Given the description of an element on the screen output the (x, y) to click on. 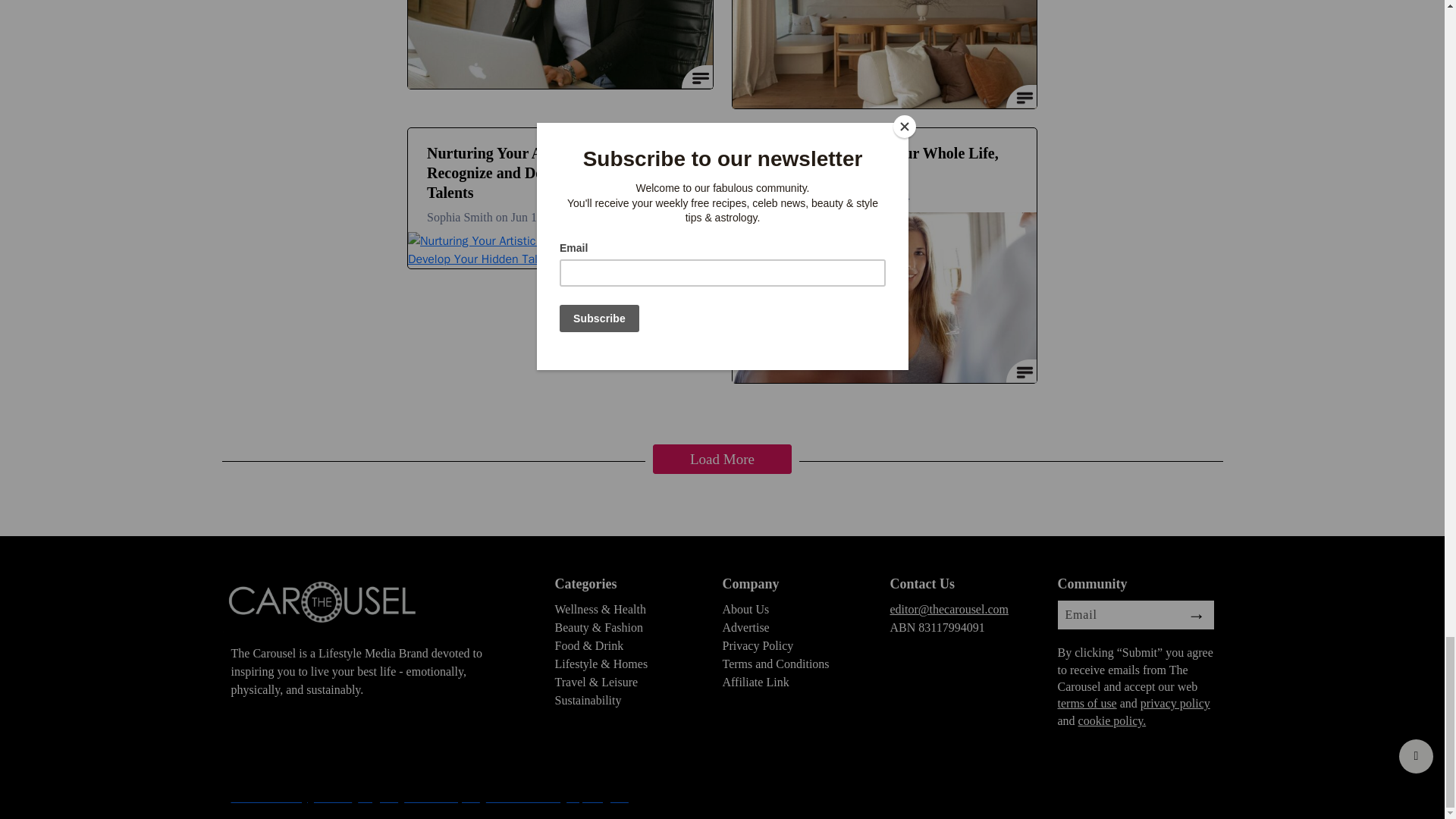
International Home Decor (884, 54)
How to negotiate your wage (560, 44)
